Given the description of an element on the screen output the (x, y) to click on. 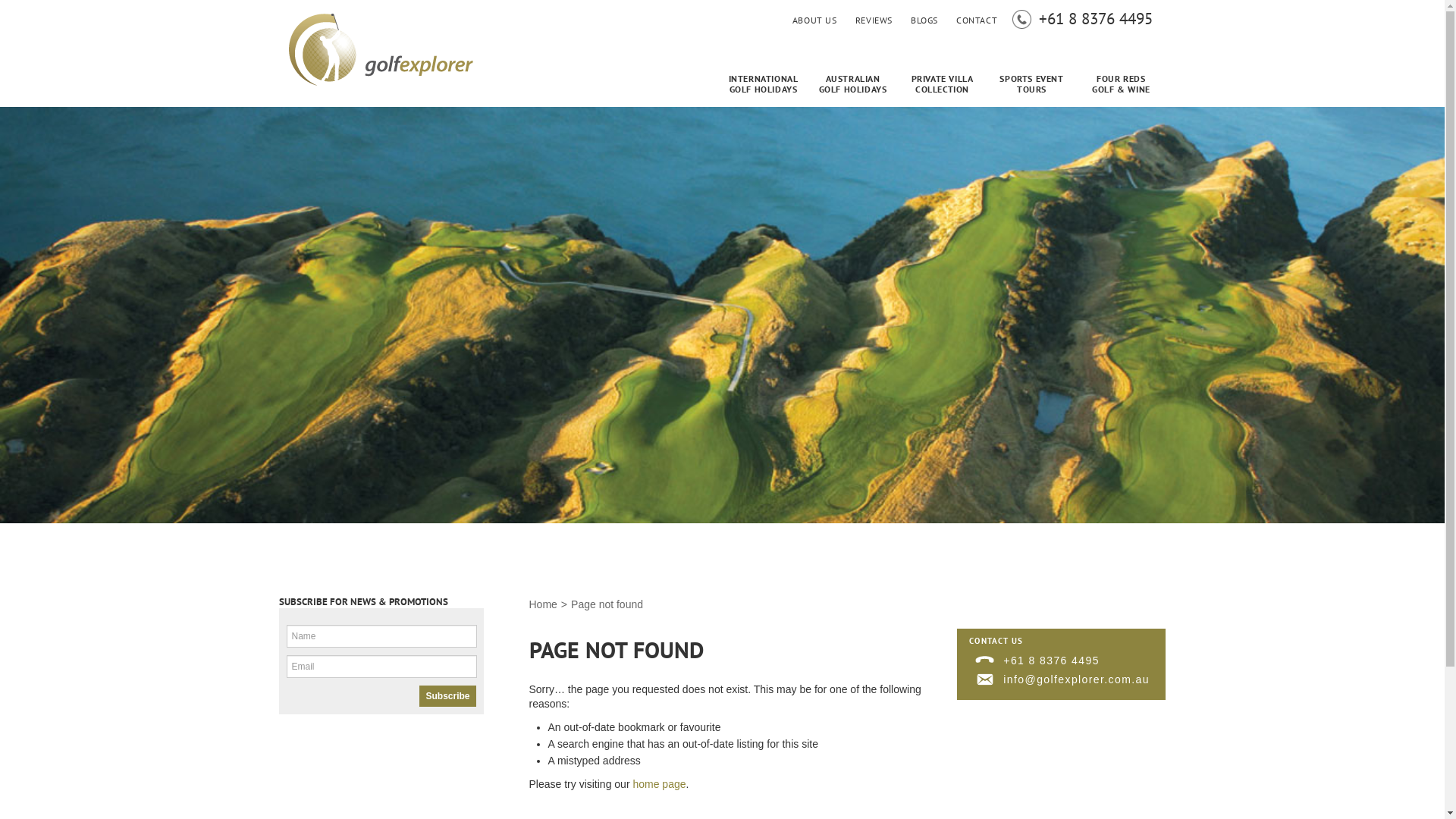
+61 8 8376 4495 Element type: text (1051, 660)
AUSTRALIAN GOLF HOLIDAYS Element type: text (852, 88)
SPORTS EVENT TOURS Element type: text (1031, 88)
BLOGS Element type: text (924, 20)
CONTACT Element type: text (976, 20)
ABOUT US Element type: text (814, 20)
Home Element type: text (543, 604)
Home - Golf Explorer Element type: hover (379, 48)
FOUR REDS GOLF & WINE Element type: text (1121, 88)
PRIVATE VILLA COLLECTION Element type: text (942, 88)
info@golfexplorer.com.au Element type: text (1059, 677)
REVIEWS Element type: text (873, 20)
+61 8 8376 4495 Element type: text (1095, 20)
positional-image-1 Element type: hover (722, 314)
Subscribe Element type: text (447, 695)
home page Element type: text (658, 784)
